Given the description of an element on the screen output the (x, y) to click on. 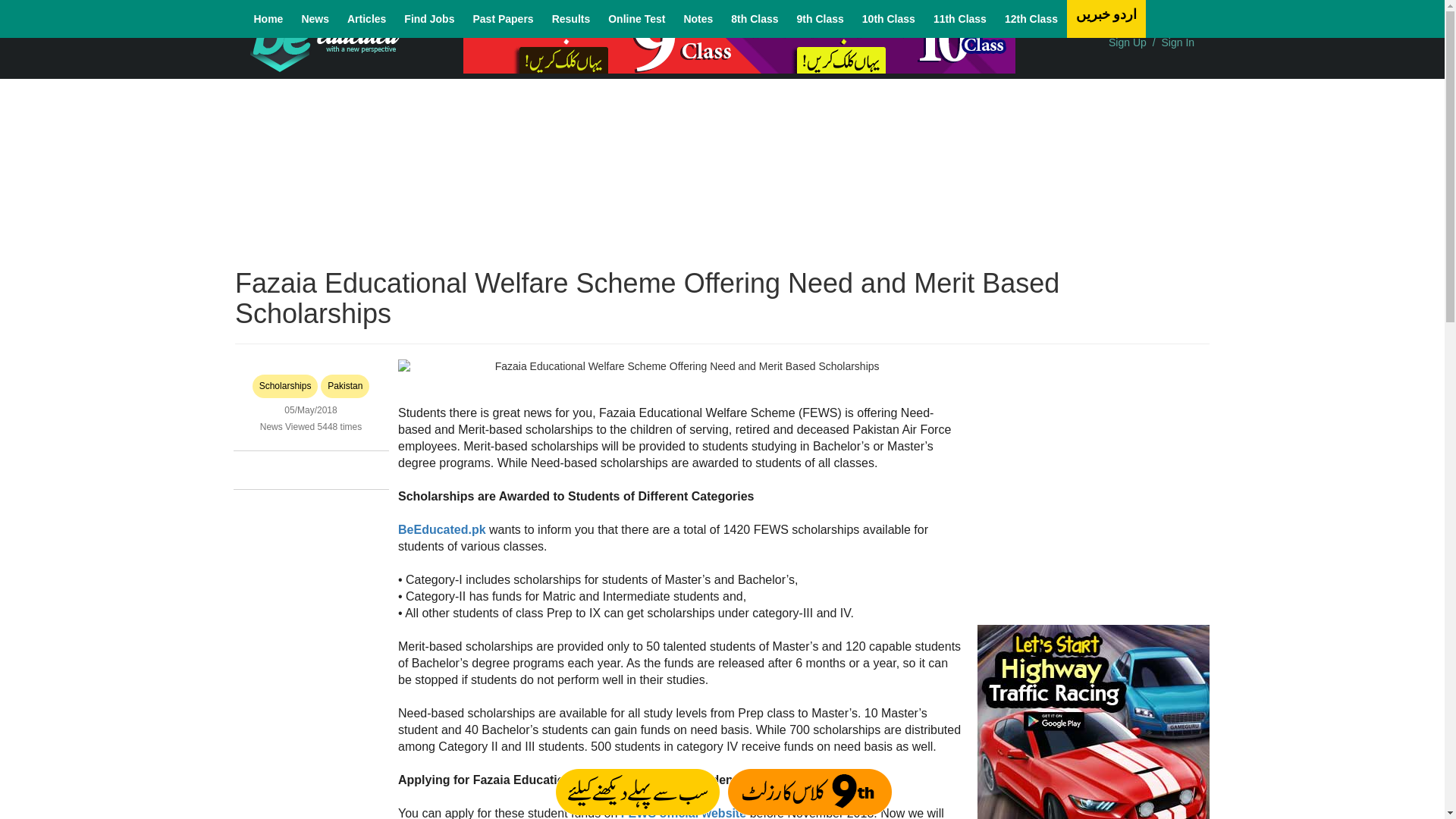
Find Jobs (428, 18)
News (314, 18)
Home (268, 18)
Sign In (1178, 42)
Sign Up (1127, 42)
Articles (365, 18)
